Given the description of an element on the screen output the (x, y) to click on. 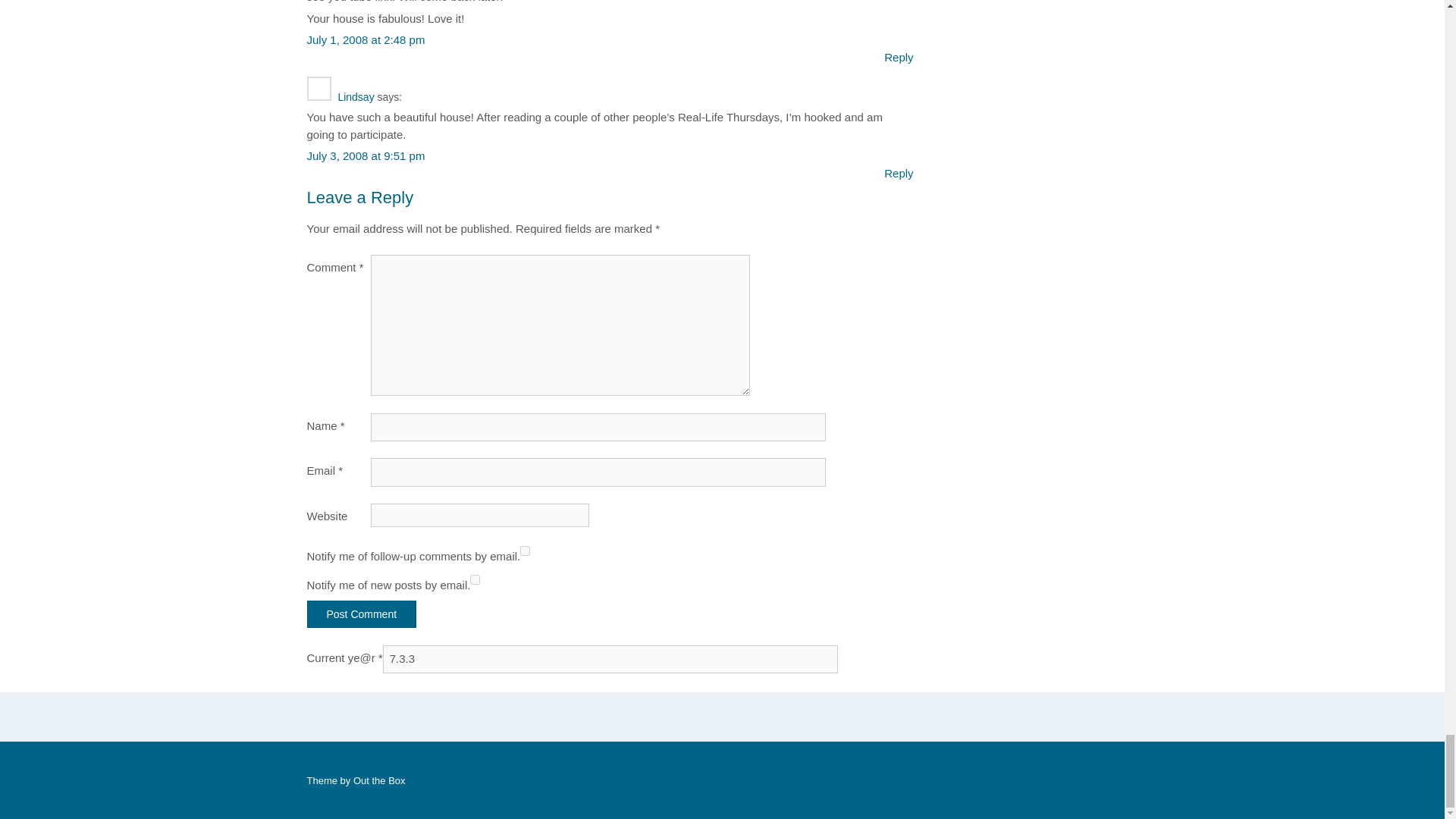
Post Comment (360, 614)
subscribe (524, 551)
subscribe (475, 579)
7.3.3 (610, 659)
